Given the description of an element on the screen output the (x, y) to click on. 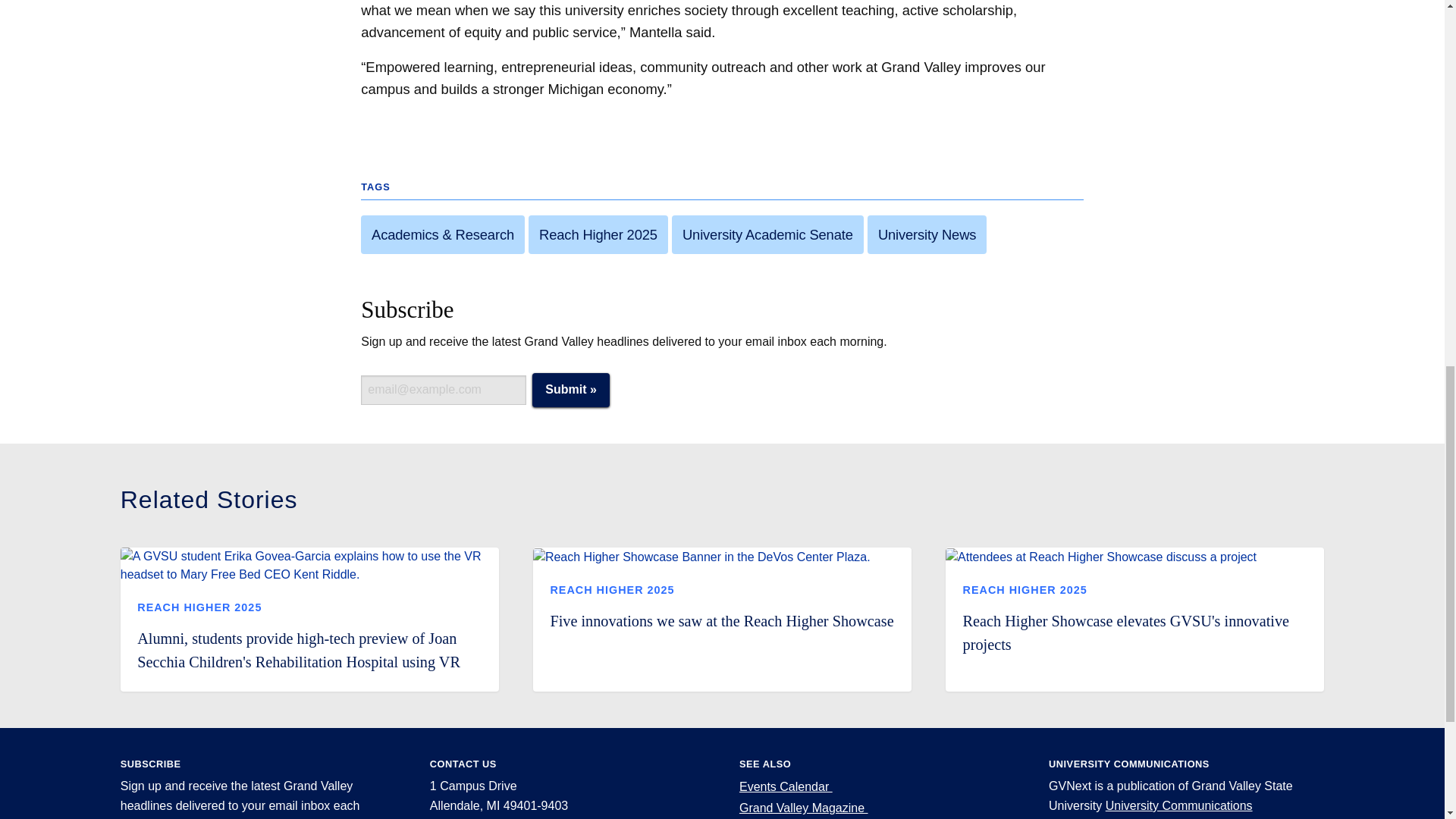
University Communications (1178, 805)
REACH HIGHER 2025 (1024, 589)
Reach Higher 2025 (597, 234)
Events Calendar (785, 786)
REACH HIGHER 2025 (612, 589)
Grand Valley Magazine (803, 807)
REACH HIGHER 2025 (199, 607)
University Academic Senate (767, 234)
Five innovations we saw at the Reach Higher Showcase (721, 620)
